Given the description of an element on the screen output the (x, y) to click on. 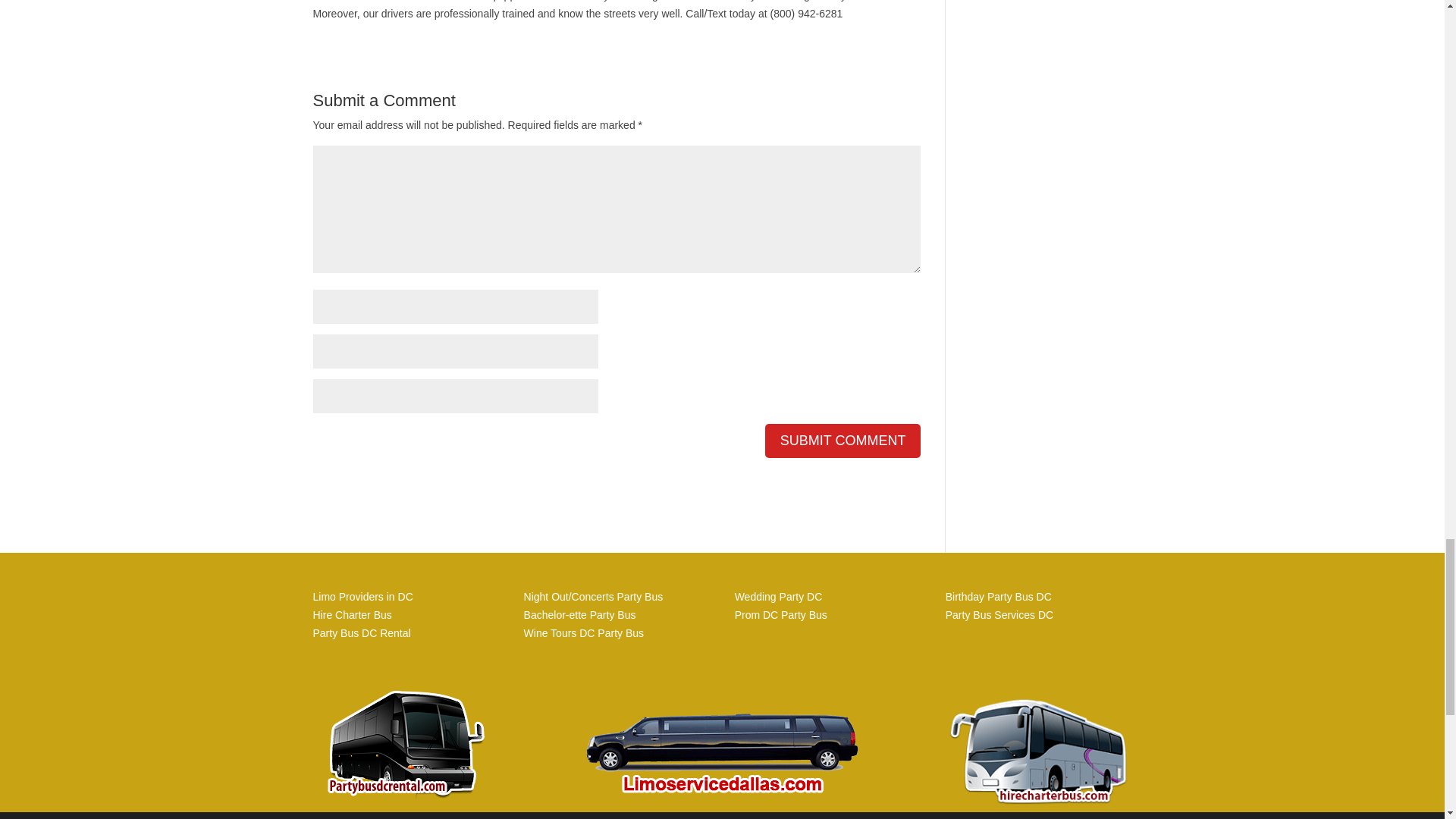
partybusdcrental (405, 739)
hirecharterbus-1 (1038, 753)
limoservicedallas.com (722, 743)
Submit Comment (843, 440)
